Given the description of an element on the screen output the (x, y) to click on. 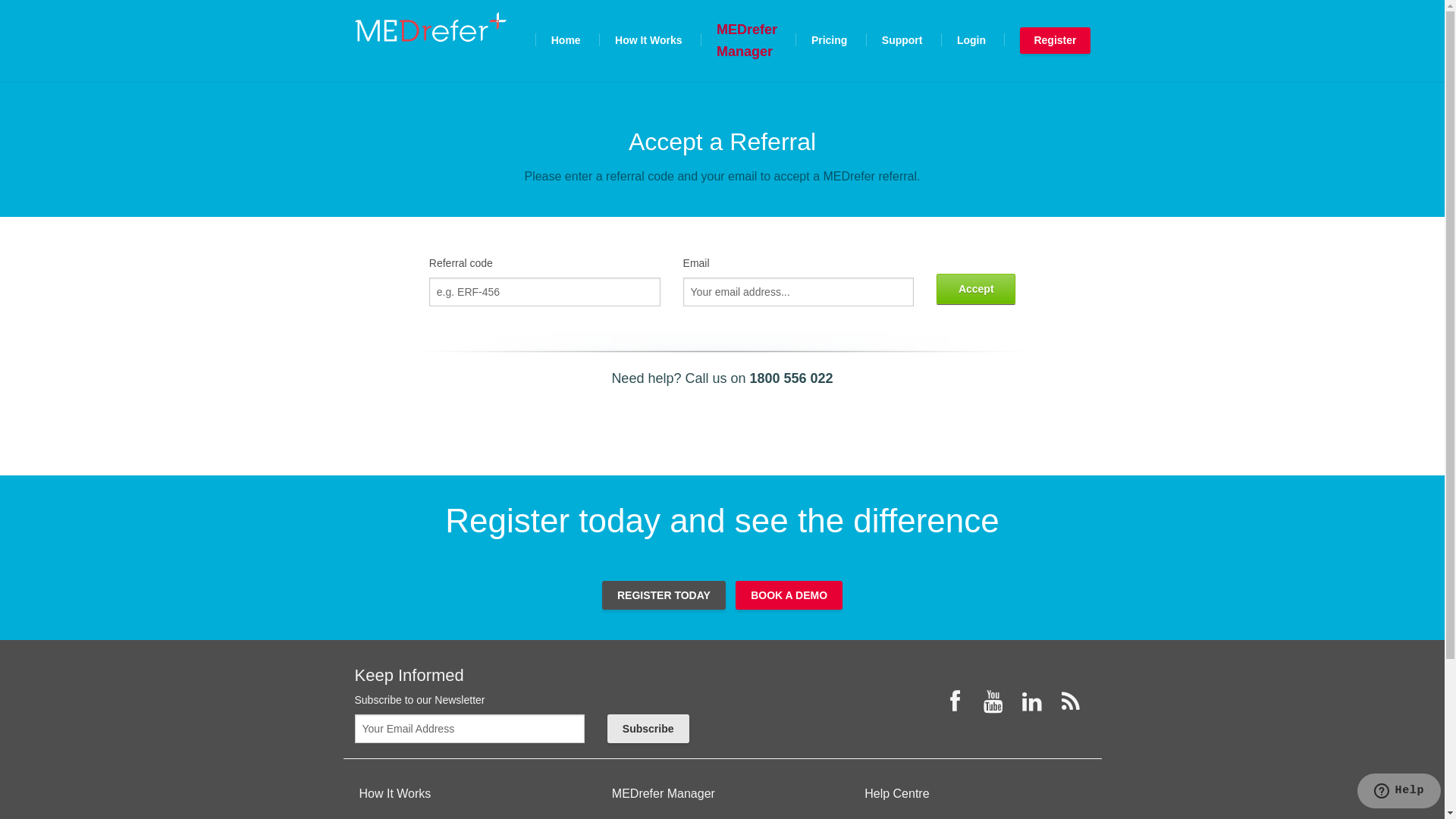
Subscribe Element type: text (648, 728)
Home Element type: text (565, 39)
Register Element type: text (1054, 40)
REGISTER TODAY Element type: text (663, 594)
Opens a widget where you can chat to one of our agents Element type: hover (1398, 792)
BOOK A DEMO Element type: text (788, 594)
Login Element type: text (971, 39)
Help Centre Element type: text (974, 793)
MEDrefer Manager Element type: text (722, 793)
Accept Element type: text (975, 288)
Skip to Content Element type: text (561, 28)
Pricing Element type: text (829, 39)
How It Works Element type: text (648, 39)
How It Works Element type: text (469, 793)
MEDrefer "Find a Specialist... Fast!" Element type: text (430, 26)
MEDrefer
Manager Element type: text (748, 39)
Support Element type: text (901, 39)
